Given the description of an element on the screen output the (x, y) to click on. 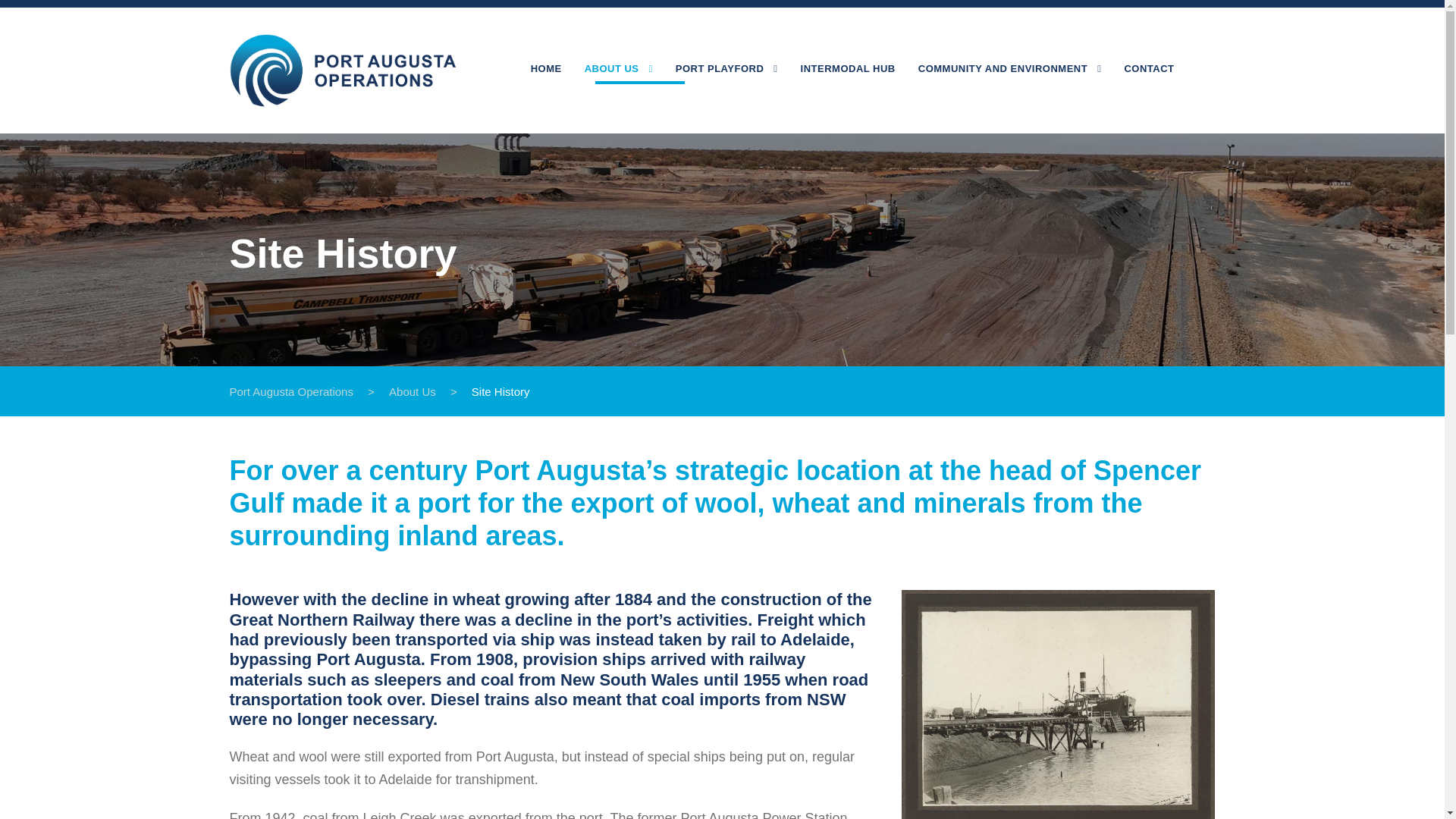
Go to About Us. (411, 391)
Go to Port Augusta Operations. (290, 391)
